Given the description of an element on the screen output the (x, y) to click on. 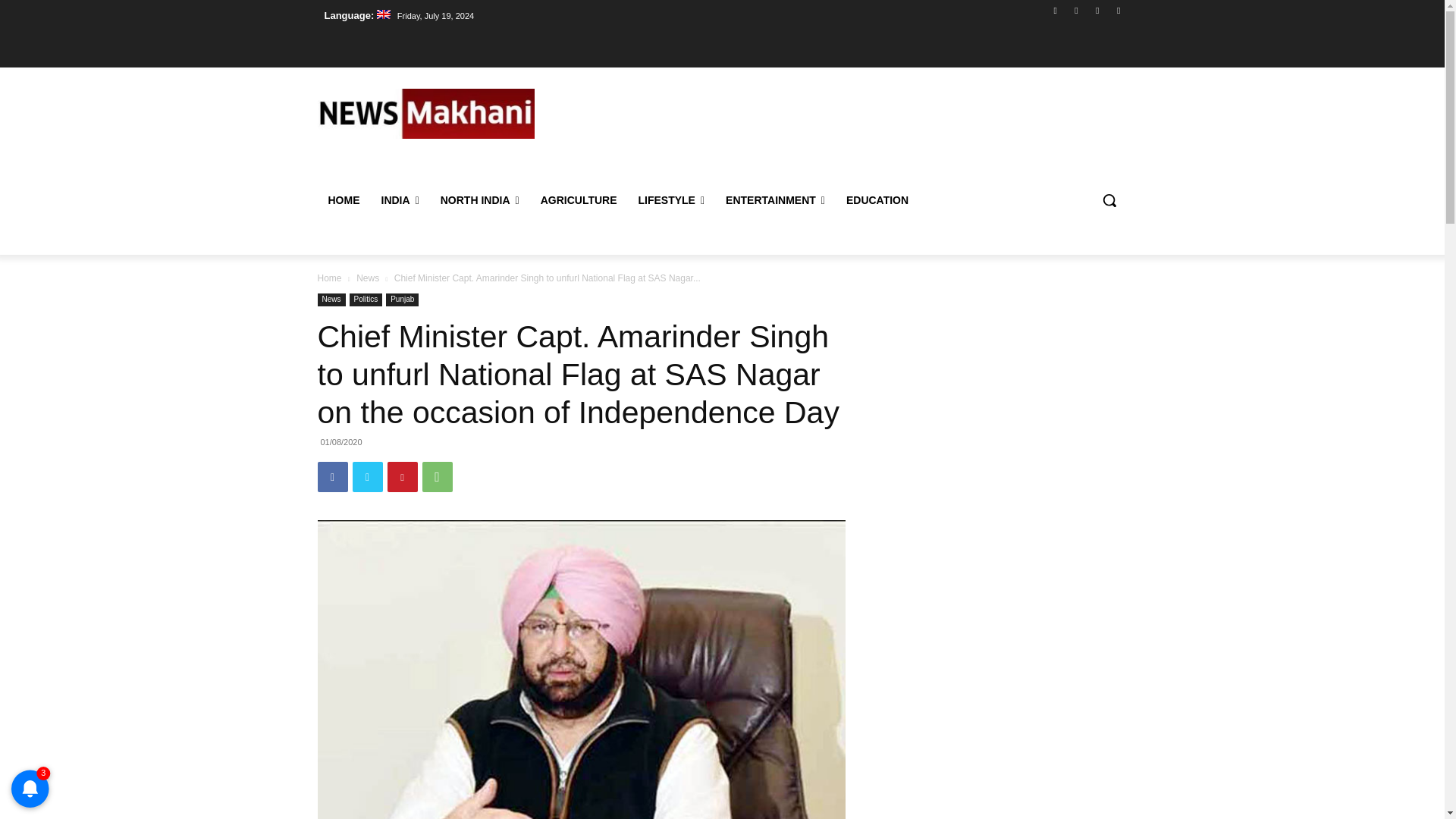
Youtube (1117, 9)
Facebook (1055, 9)
Instagram (1075, 9)
English (356, 15)
Twitter (1097, 9)
